Given the description of an element on the screen output the (x, y) to click on. 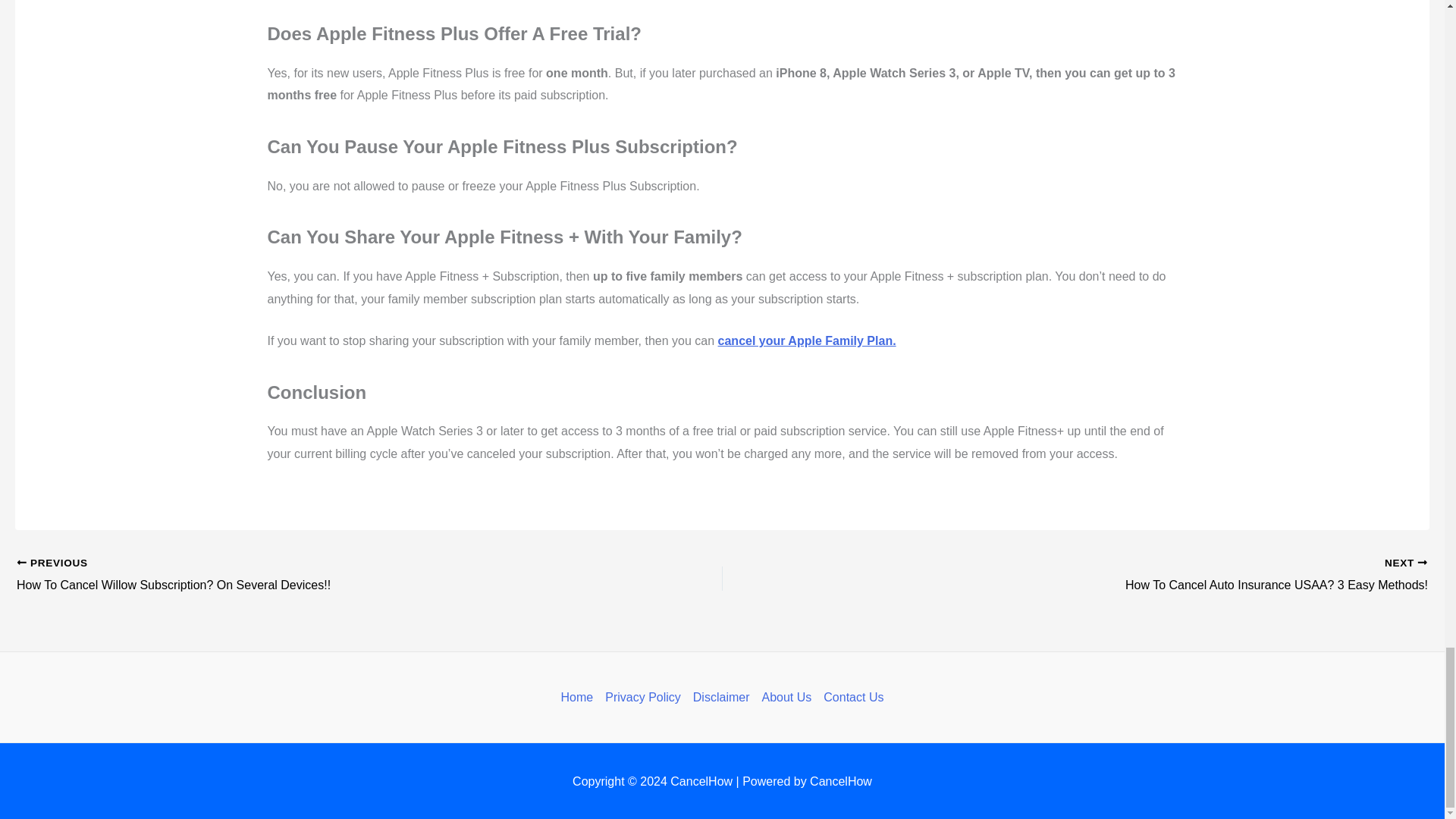
Home (579, 697)
Contact Us (849, 697)
Disclaimer (721, 697)
About Us (785, 697)
Privacy Policy (642, 697)
cancel your Apple Family Plan. (1144, 575)
